Given the description of an element on the screen output the (x, y) to click on. 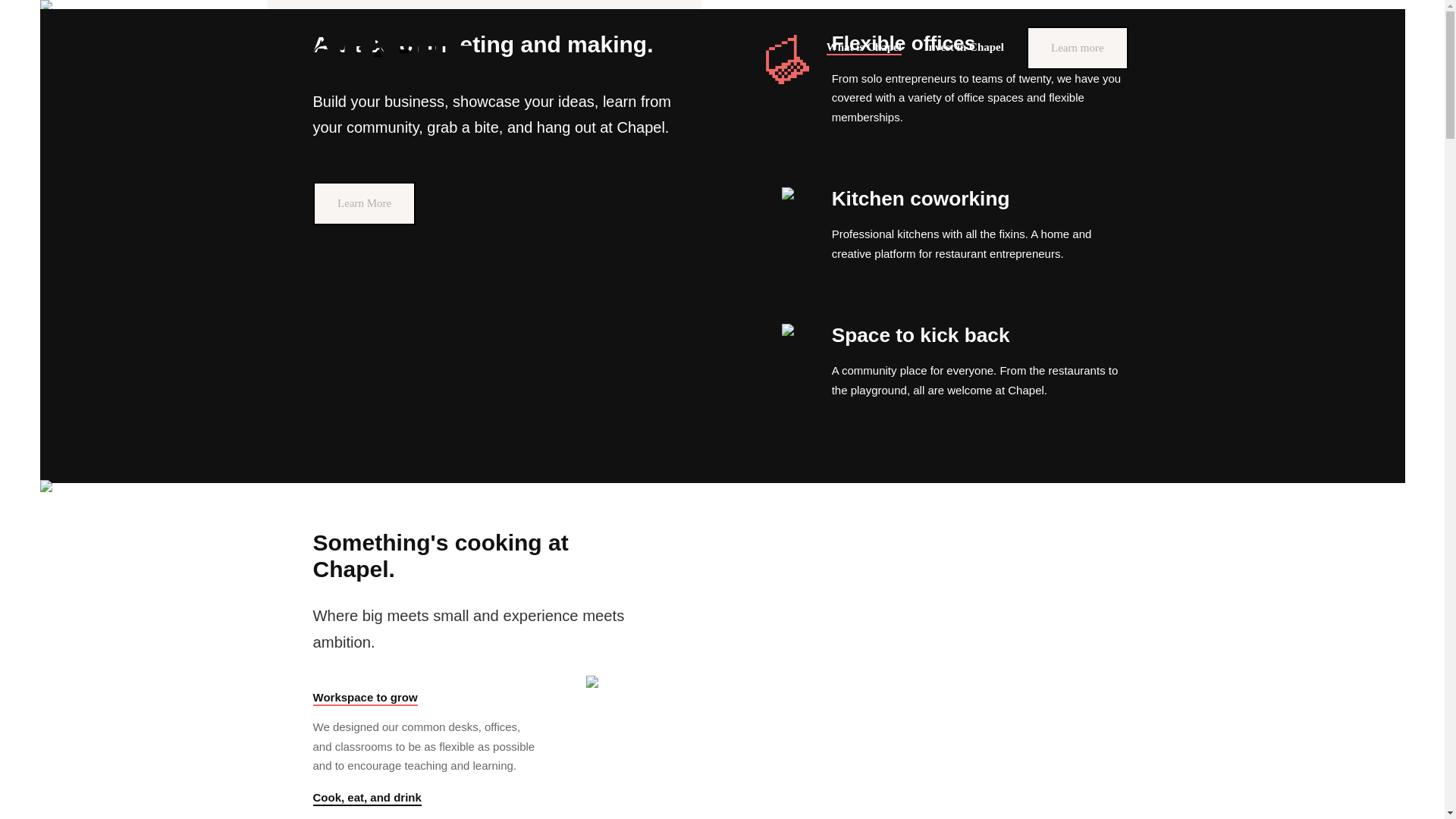
Learn more (1079, 47)
Learn More (366, 202)
Cook, eat, and drink (366, 798)
Learn more (365, 374)
Workspace to grow (364, 698)
Invest in Chapel (964, 47)
What is Chapel (864, 47)
